Given the description of an element on the screen output the (x, y) to click on. 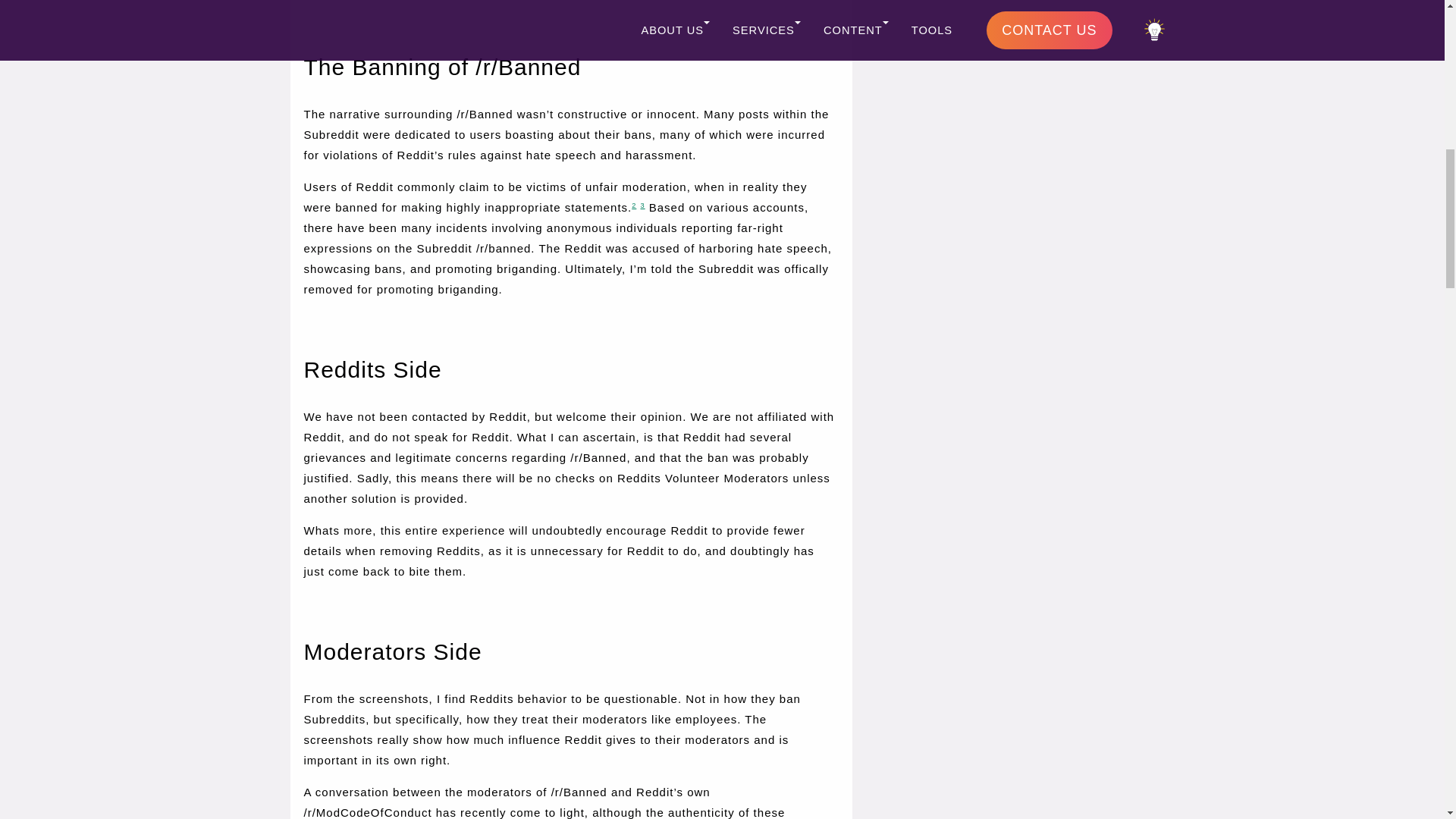
2 (633, 205)
3 (642, 205)
